Given the description of an element on the screen output the (x, y) to click on. 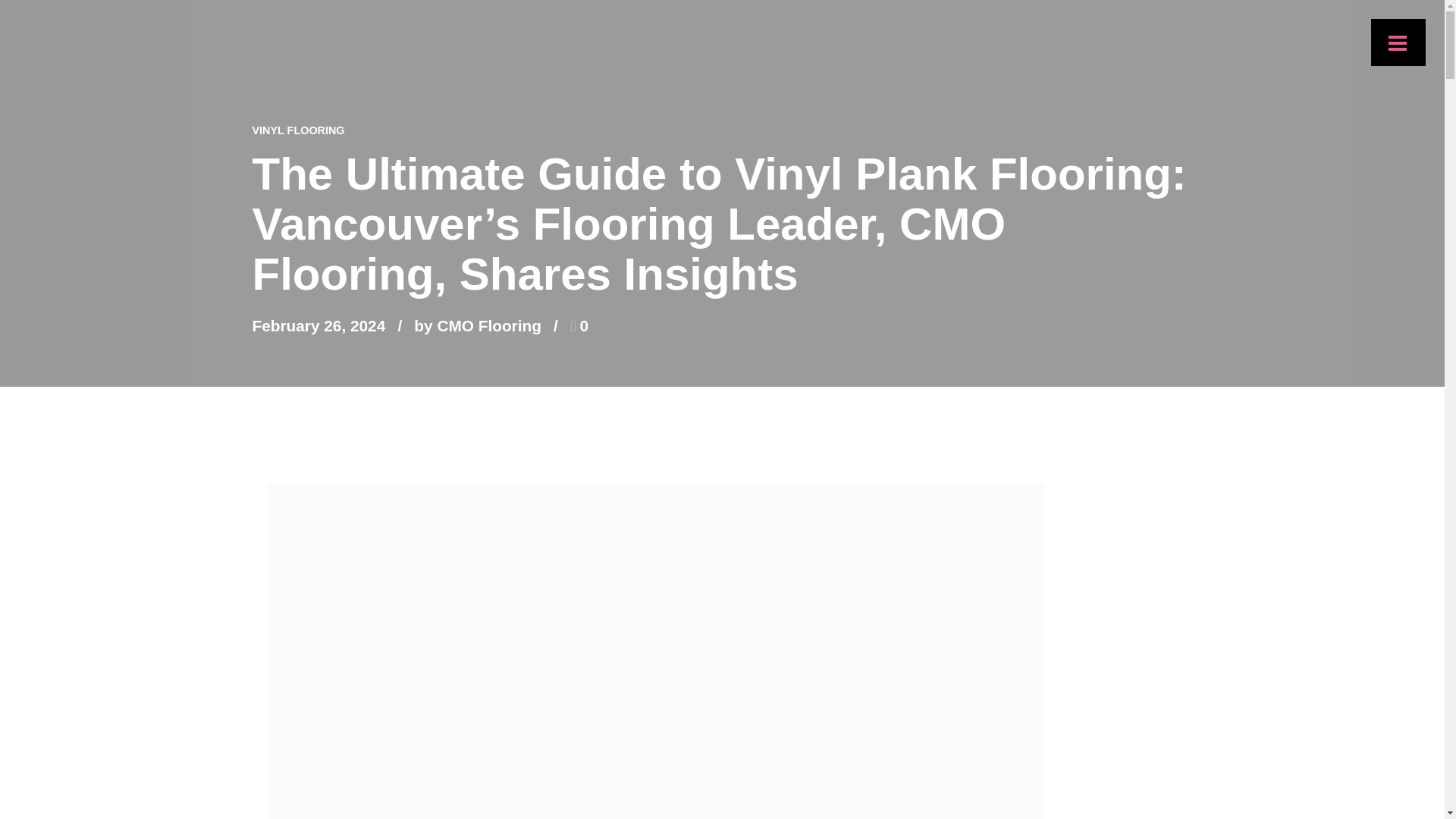
VINYL FLOORING (297, 130)
0 (579, 325)
by CMO Flooring (477, 325)
